Given the description of an element on the screen output the (x, y) to click on. 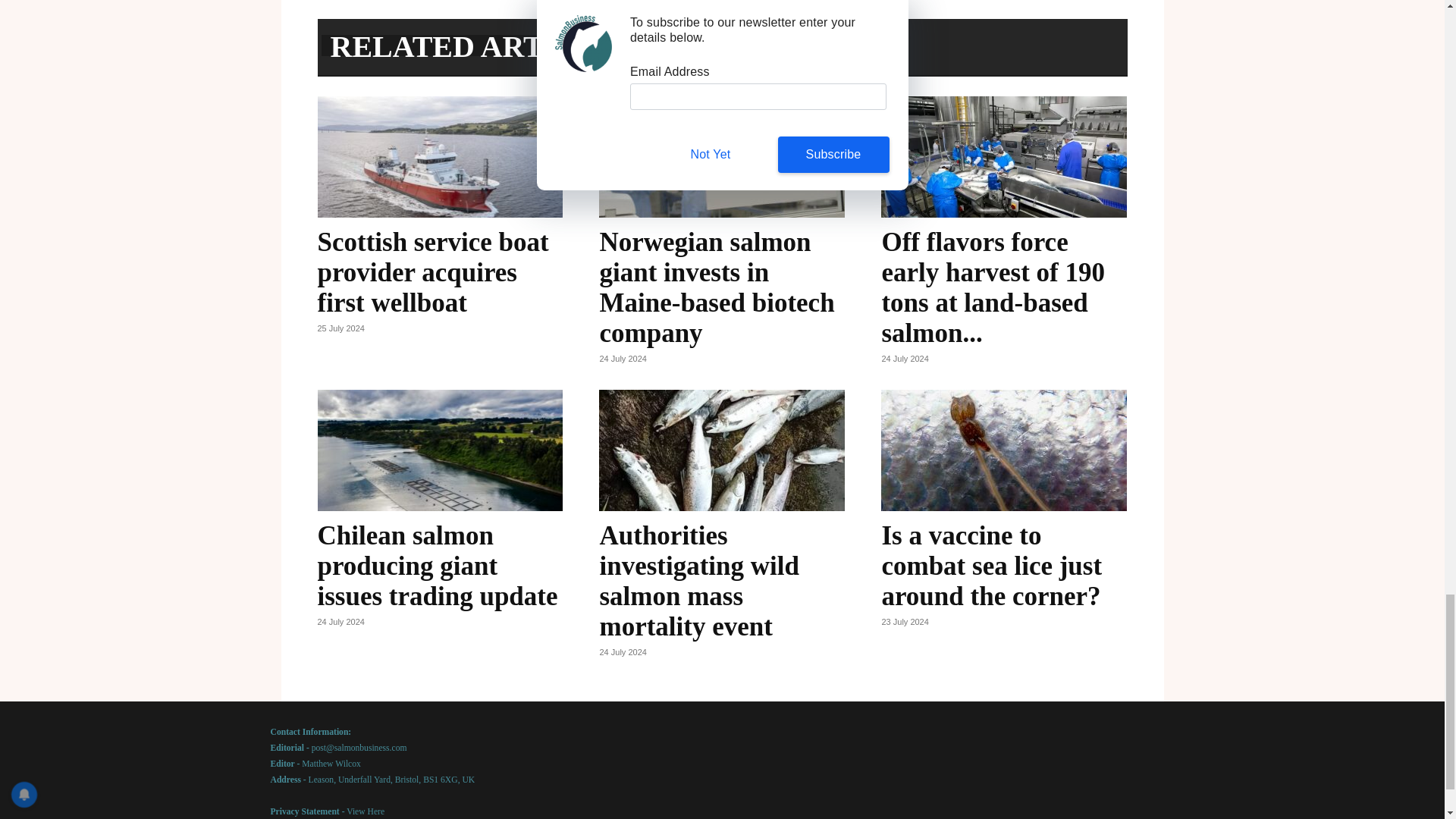
Scottish service boat provider acquires first wellboat (432, 272)
Scottish service boat provider acquires first wellboat (439, 156)
Scottish service boat provider acquires first wellboat (432, 272)
